Given the description of an element on the screen output the (x, y) to click on. 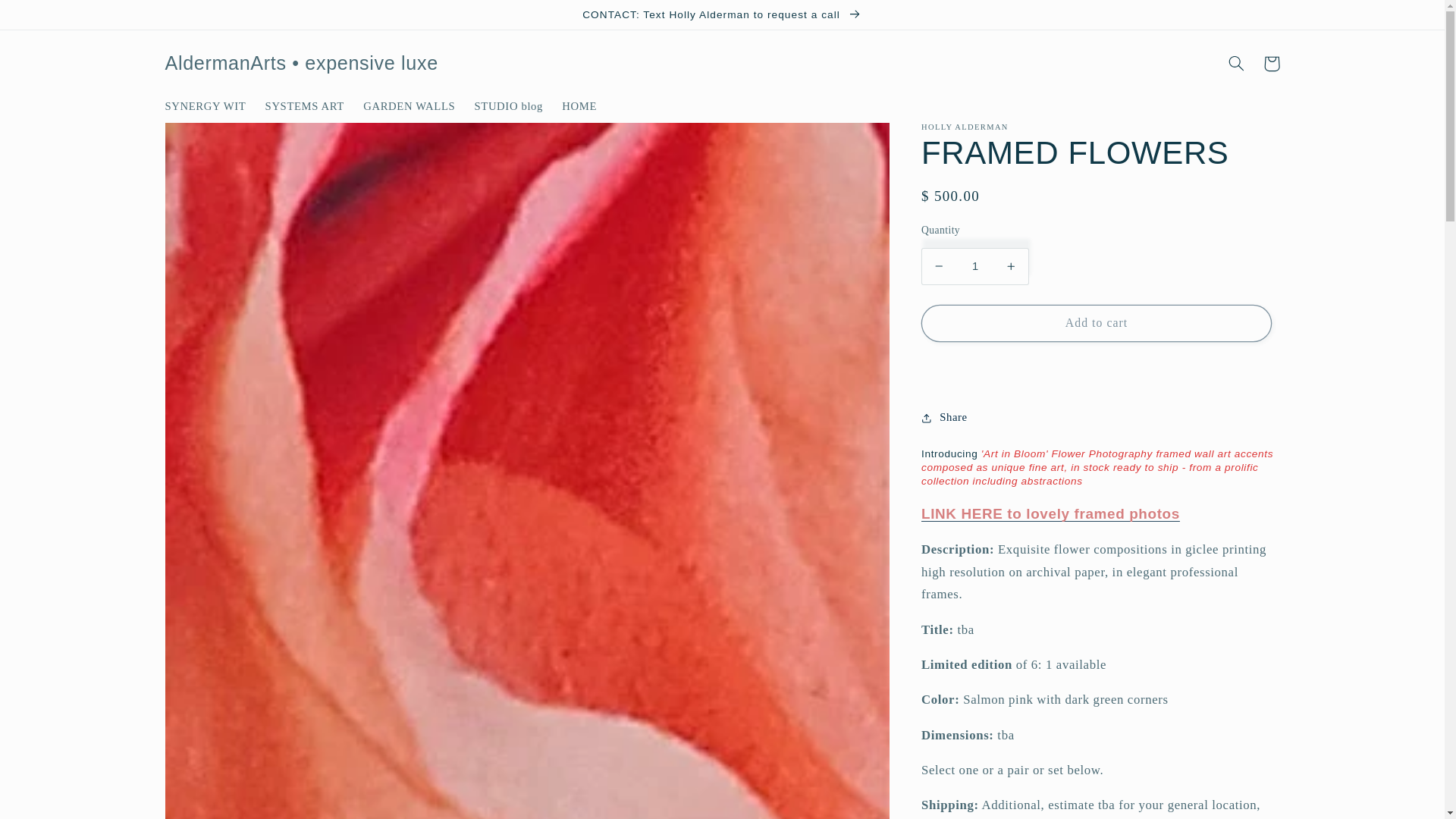
LINK HERE to lovely framed photos (1050, 513)
Framed Flower Photography (1050, 513)
SYSTEMS ART (304, 105)
STUDIO blog (508, 105)
Add to cart (1096, 323)
Decrease quantity for FRAMED FLOWERS (938, 266)
Increase quantity for FRAMED FLOWERS (1010, 266)
1 (975, 266)
HOME (580, 105)
Skip to content (48, 18)
Cart (1270, 63)
SYNERGY WIT (205, 105)
GARDEN WALLS (408, 105)
Skip to product information (211, 140)
